Given the description of an element on the screen output the (x, y) to click on. 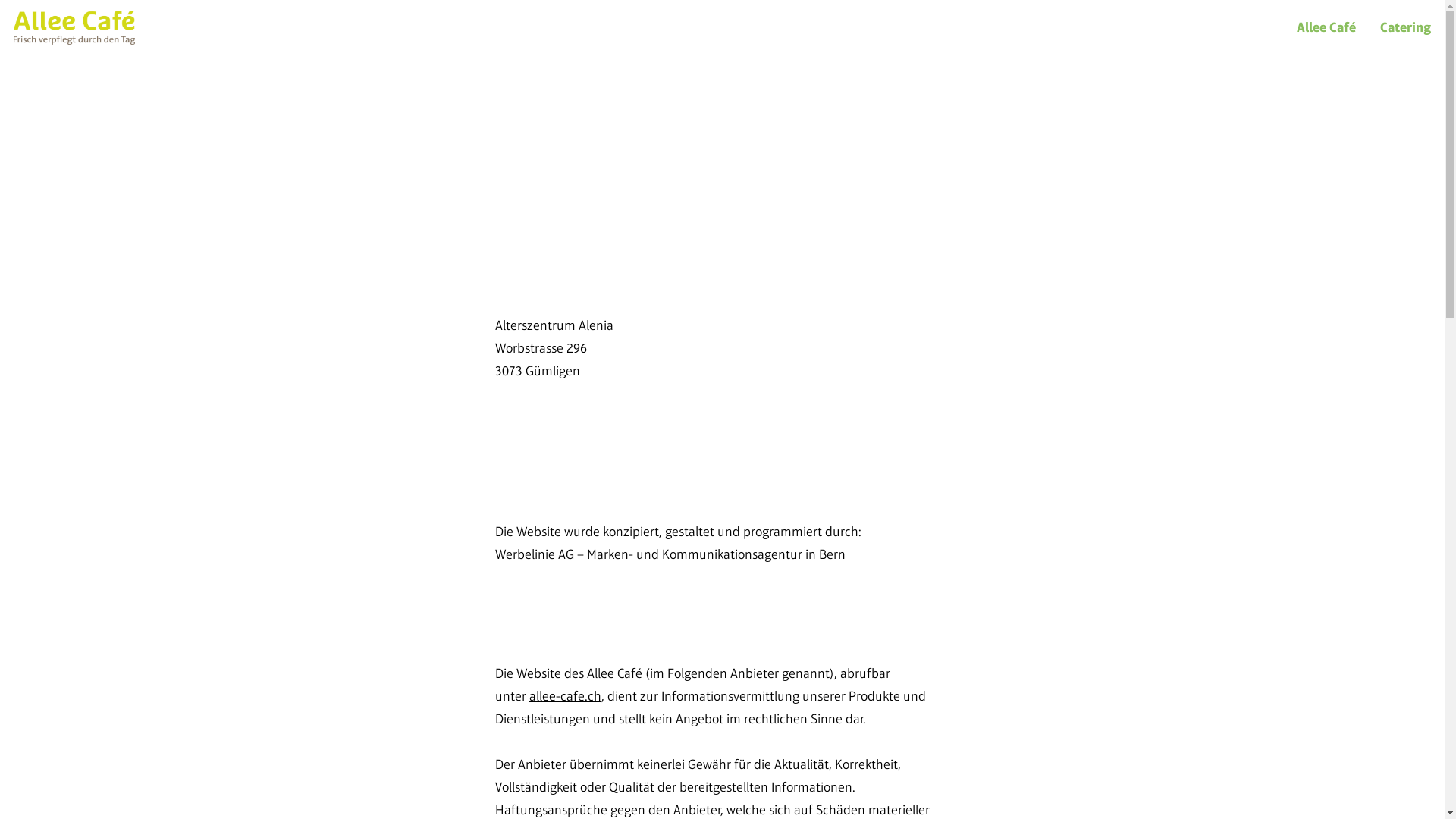
allee-cafe.ch Element type: text (565, 695)
Catering Element type: text (1405, 26)
Go to homepage Element type: hover (73, 27)
